Given the description of an element on the screen output the (x, y) to click on. 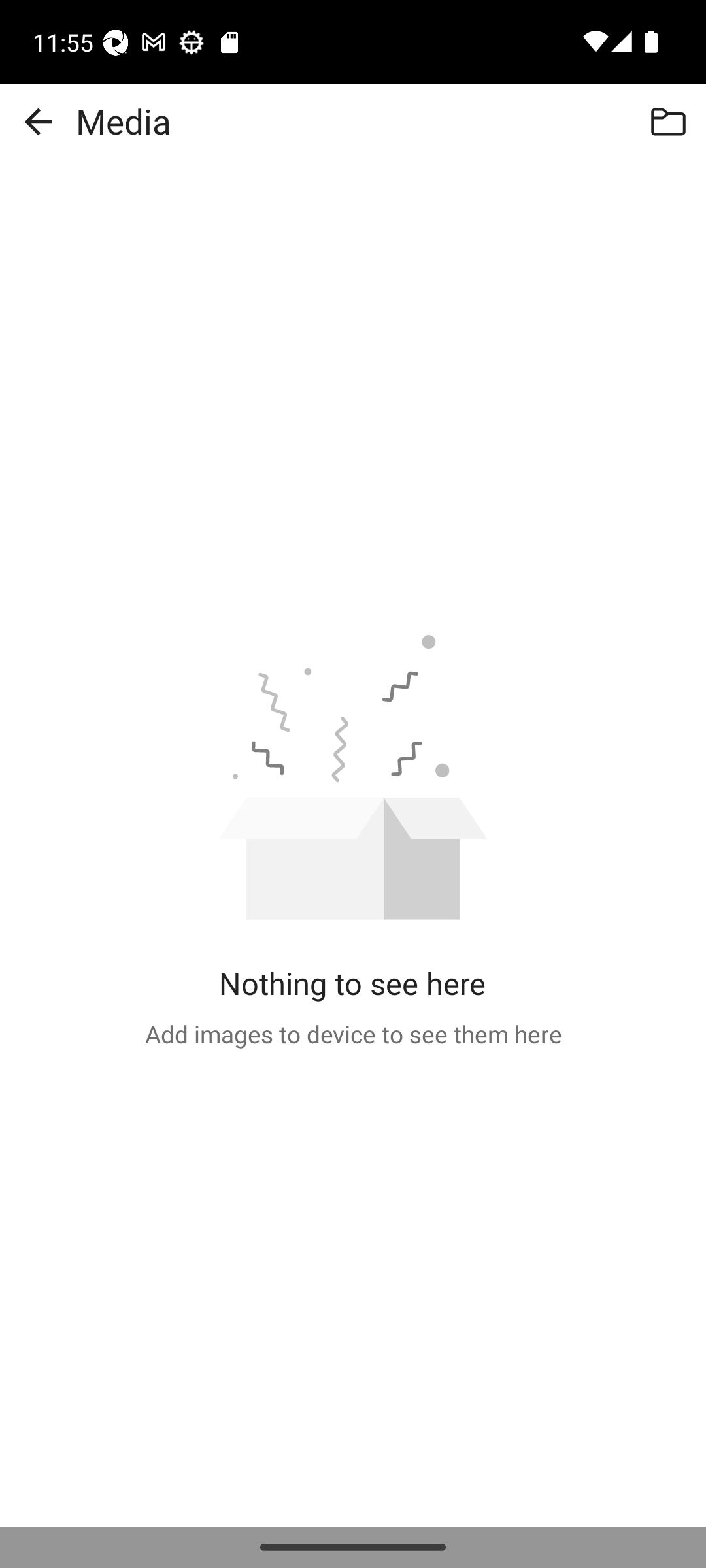
Back (37, 121)
Native Gallery (668, 121)
